Given the description of an element on the screen output the (x, y) to click on. 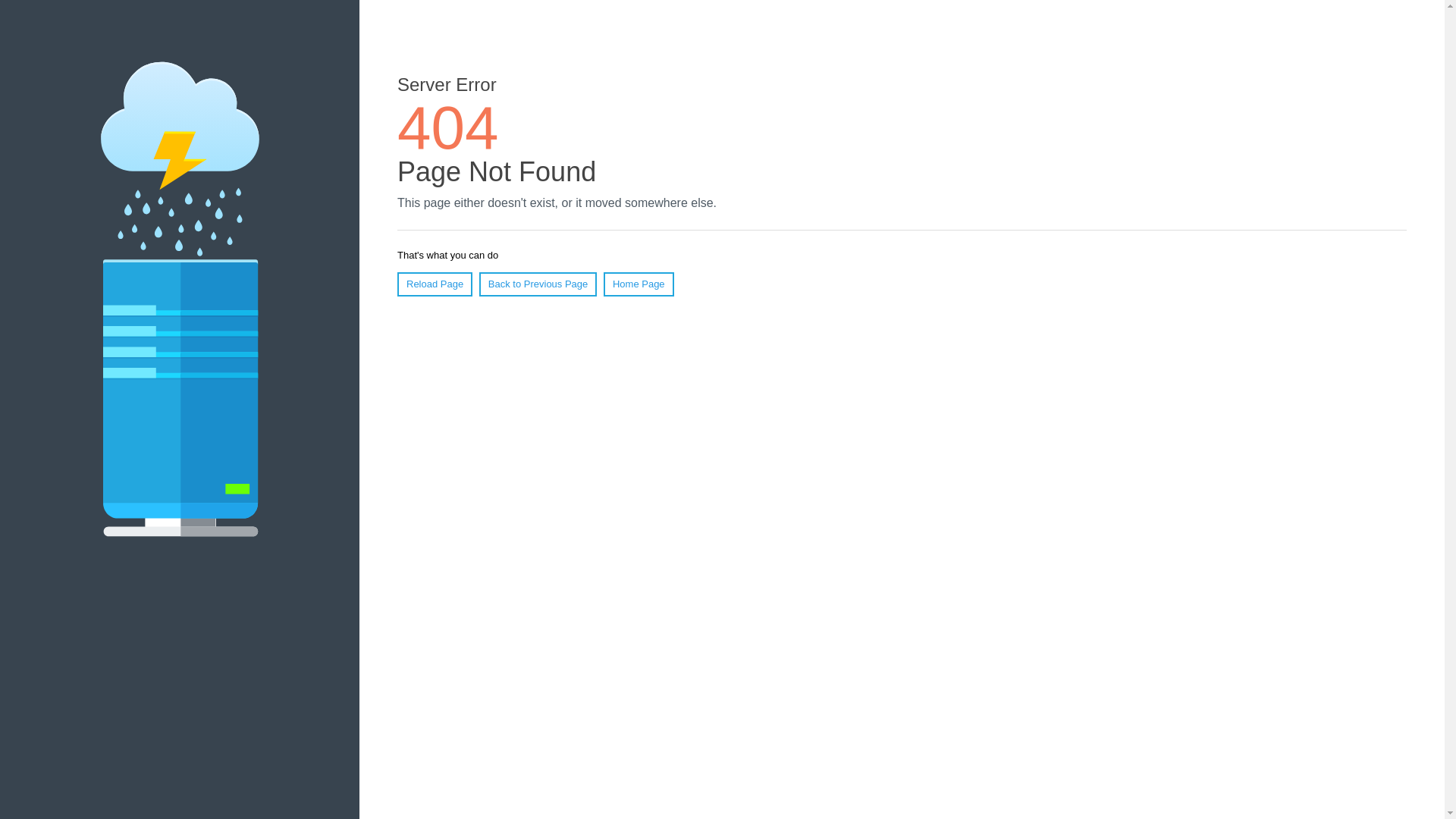
Back to Previous Page Element type: text (538, 284)
Home Page Element type: text (638, 284)
Reload Page Element type: text (434, 284)
